Given the description of an element on the screen output the (x, y) to click on. 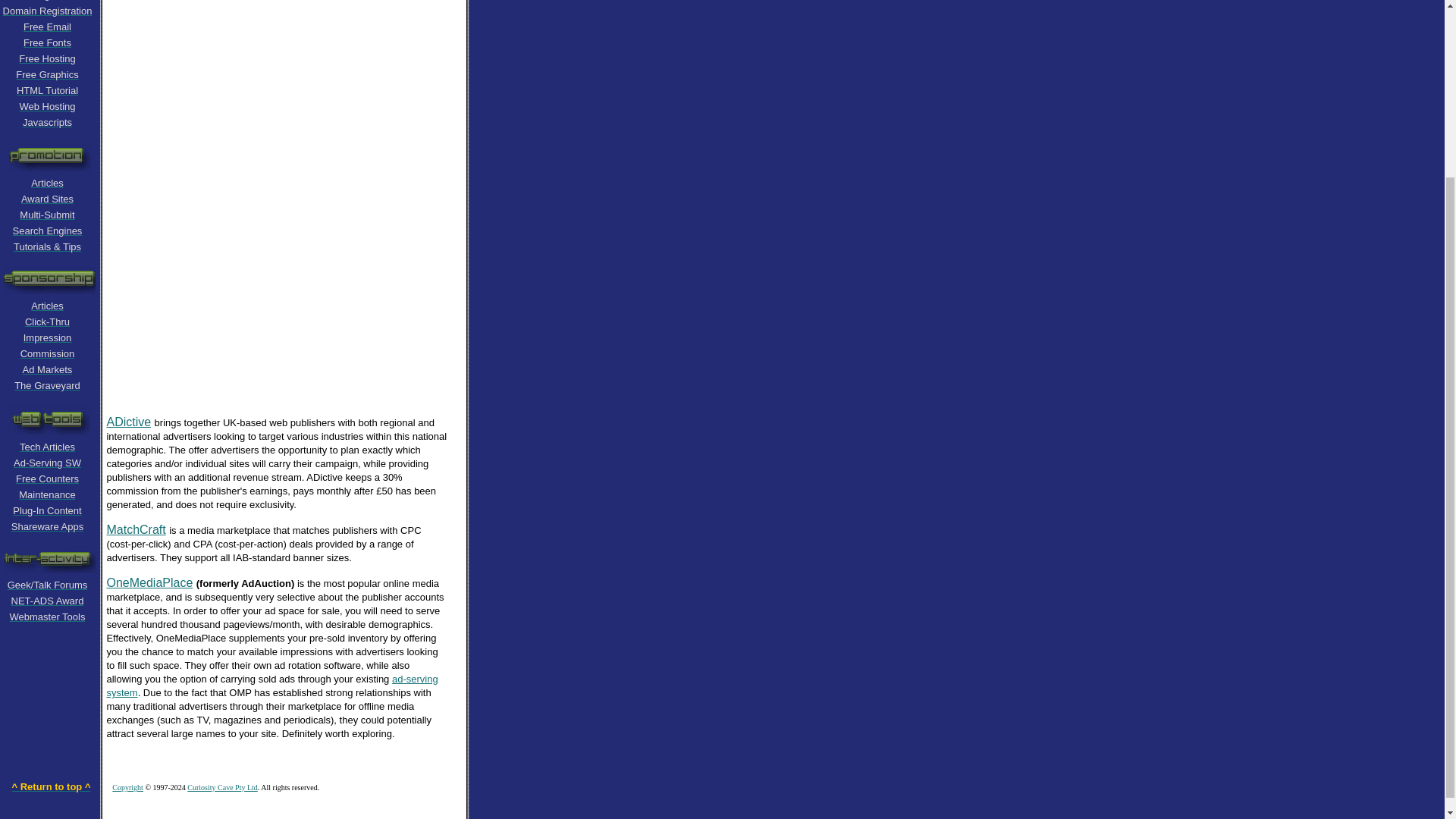
Free Fonts (47, 42)
Tech Articles (47, 445)
The Graveyard (47, 384)
Commission (47, 352)
Articles (47, 182)
Free Email (47, 25)
Domain Registration (47, 10)
Free Graphics (47, 73)
Impression (47, 336)
Search Engines (47, 229)
